Given the description of an element on the screen output the (x, y) to click on. 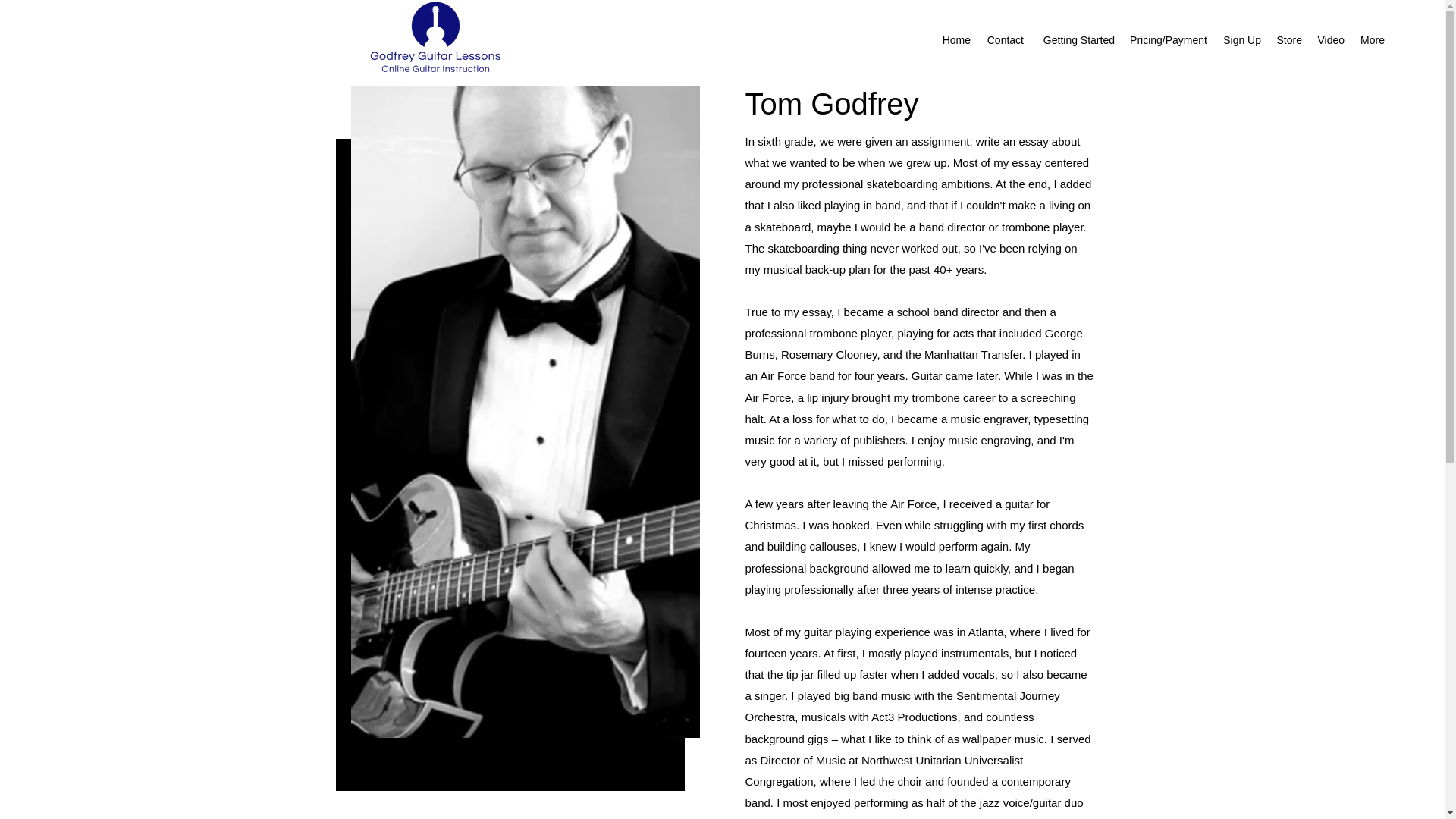
Getting Started (1076, 39)
Sign Up (1241, 39)
Contact (1004, 39)
Video (1330, 39)
Home (956, 39)
